Given the description of an element on the screen output the (x, y) to click on. 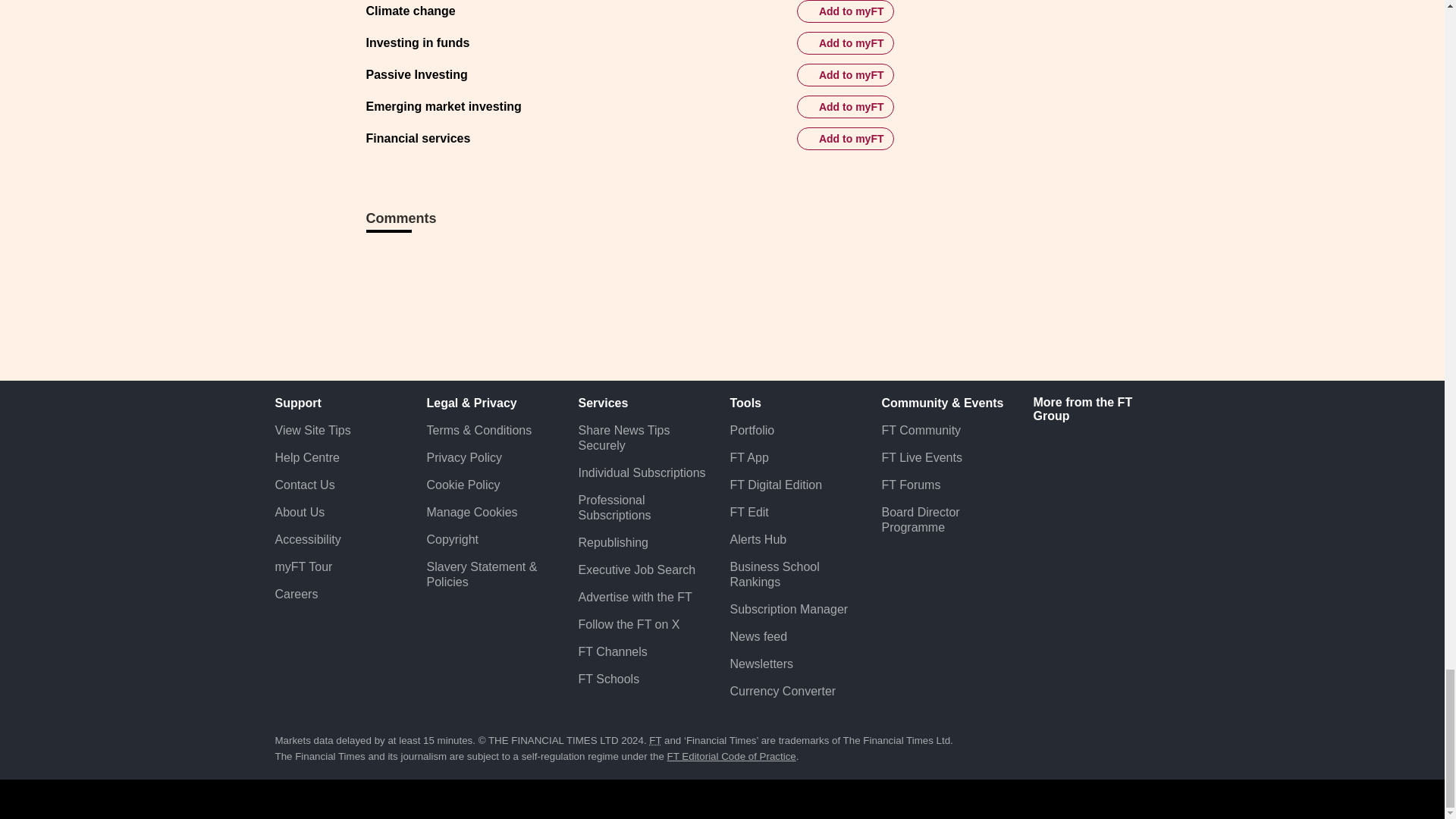
Add Financial services to myFT (844, 138)
Add Climate change to myFT (844, 11)
Add Investing in funds to myFT (844, 42)
Add Passive Investing to myFT (844, 74)
Add Emerging market investing to myFT (844, 106)
